Given the description of an element on the screen output the (x, y) to click on. 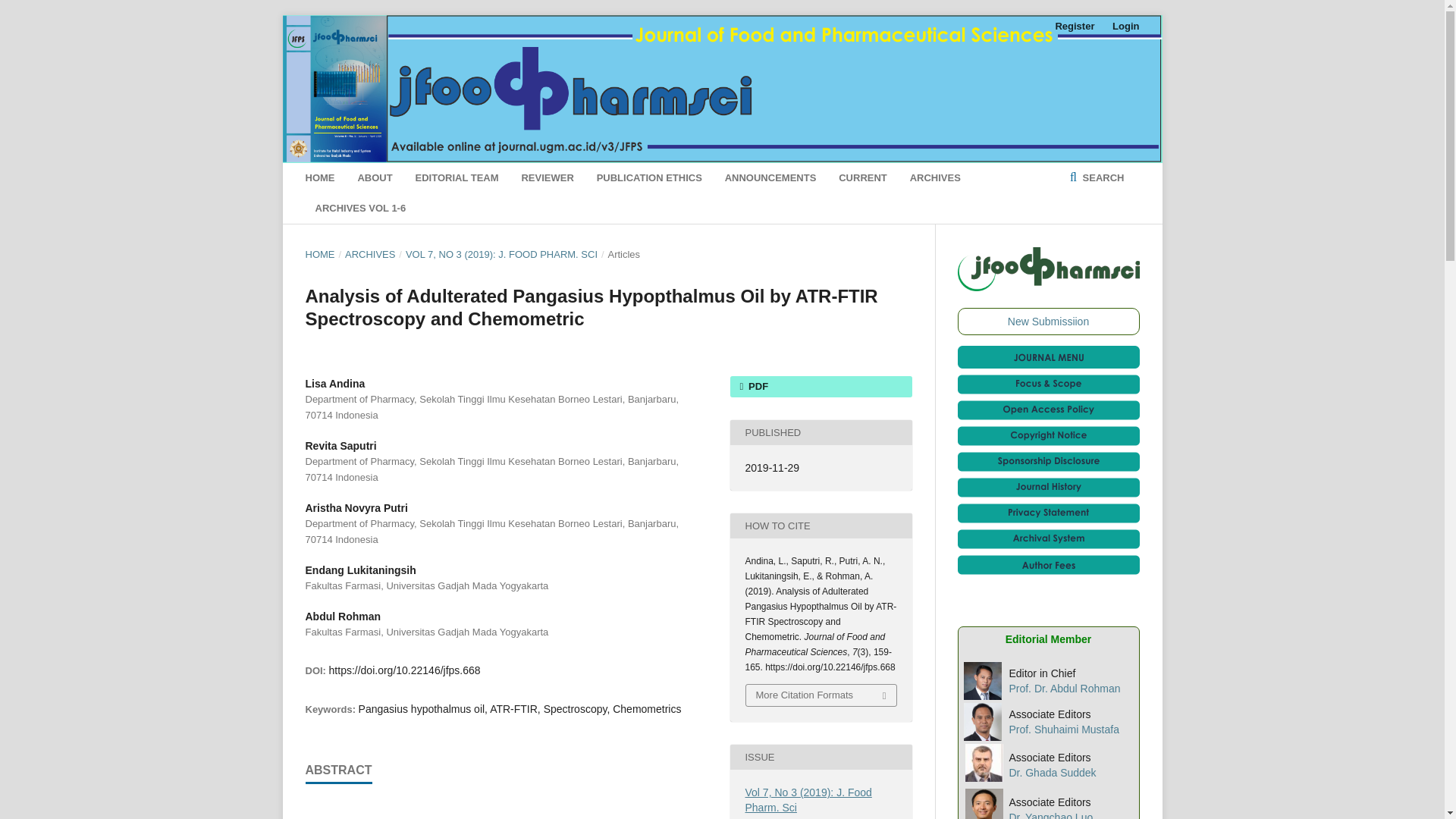
PUBLICATION ETHICS (648, 177)
HOME (319, 254)
HOME (319, 177)
Login (1121, 26)
More Citation Formats (820, 694)
CURRENT (862, 177)
ANNOUNCEMENTS (770, 177)
Register (1074, 26)
ARCHIVES VOL 1-6 (360, 208)
PDF (820, 386)
